Given the description of an element on the screen output the (x, y) to click on. 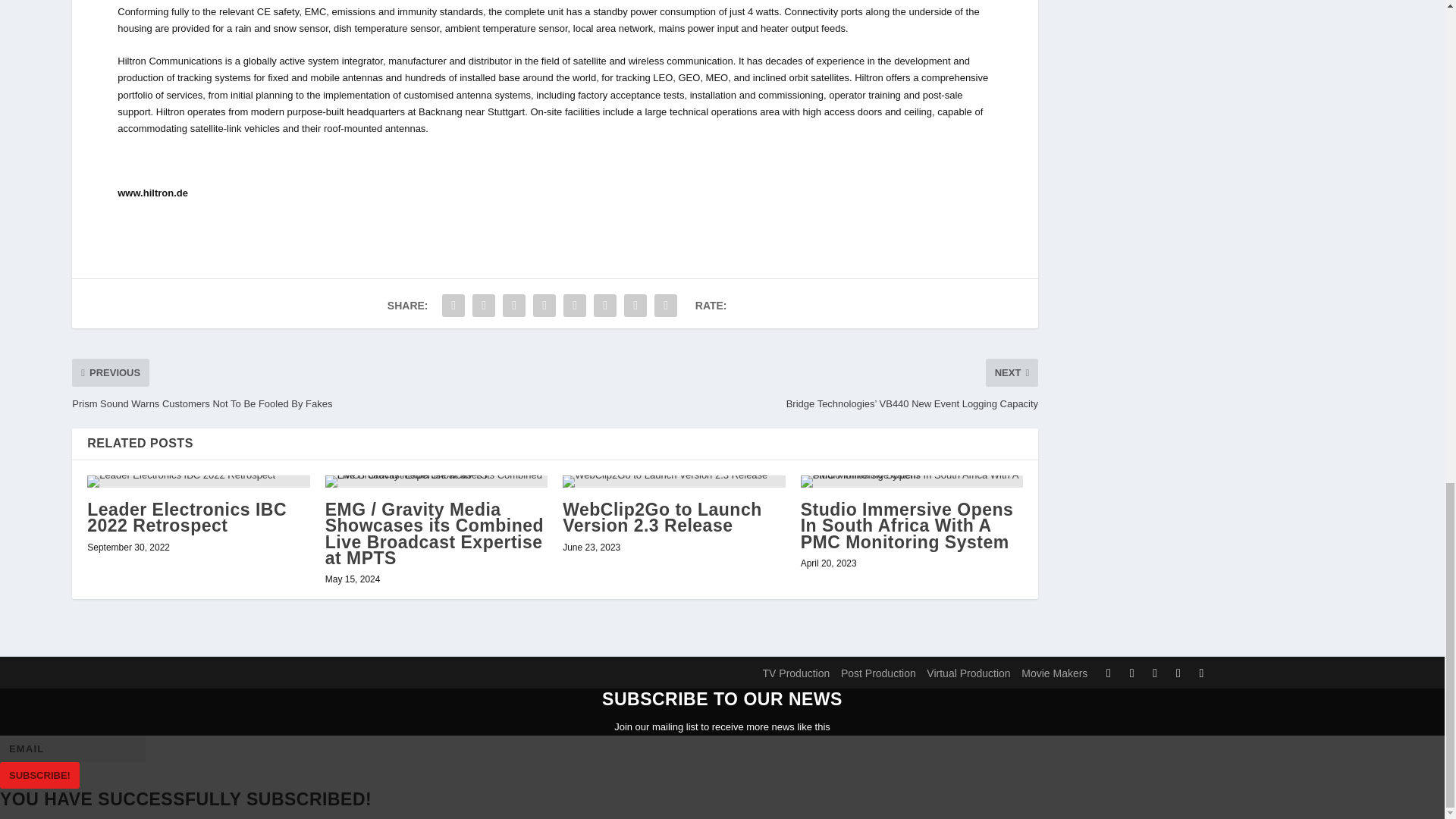
CJP makes two board appointments to drive continued growth (673, 551)
Wooden Camera Introduces Versatile Accessory Plate Systems (197, 655)
Wooden Camera Introduces Versatile Accessory Plate Systems (197, 551)
CJP makes two board appointments to drive continued growth (657, 655)
